Given the description of an element on the screen output the (x, y) to click on. 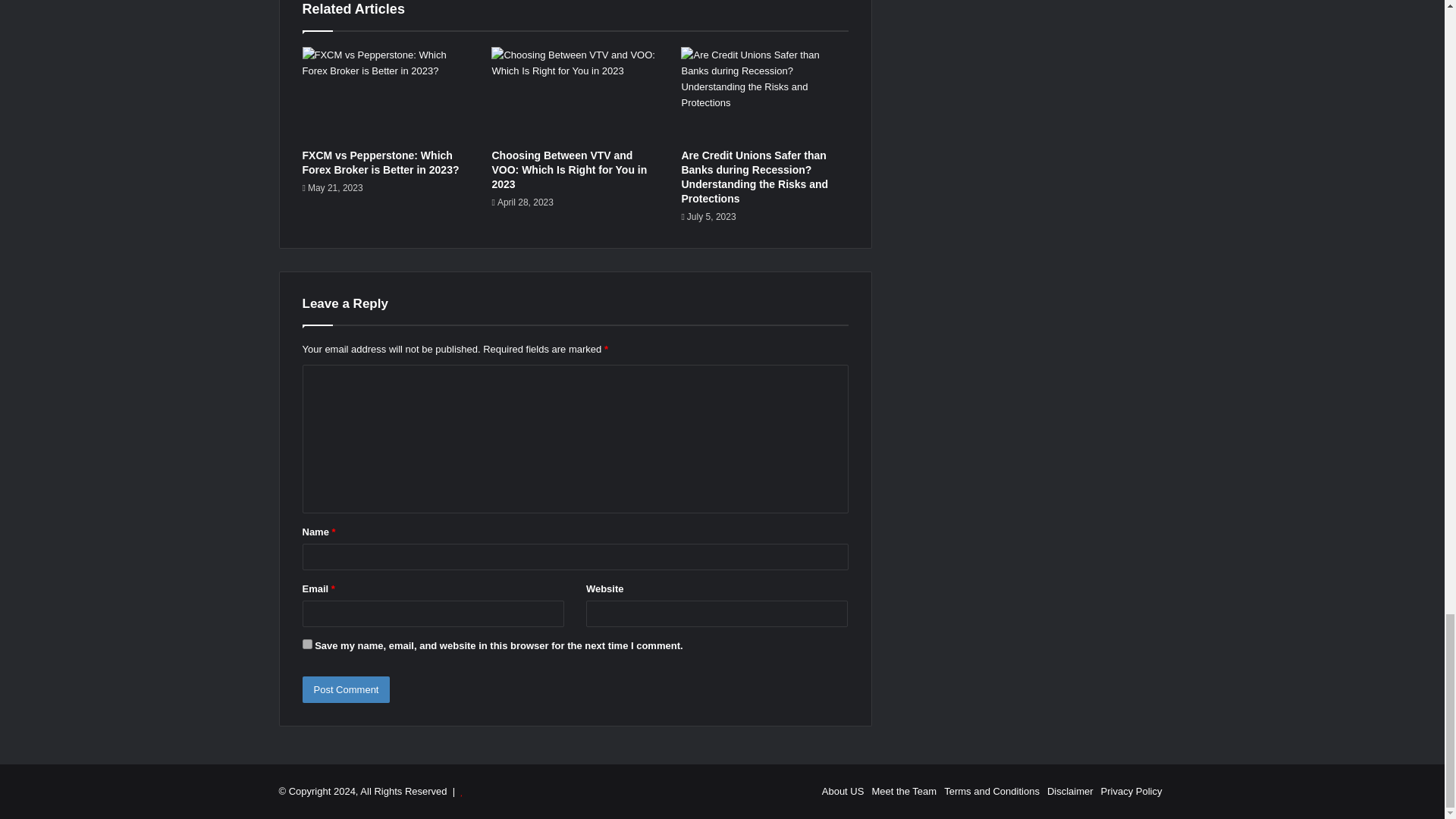
yes (306, 644)
Post Comment (345, 689)
